Given the description of an element on the screen output the (x, y) to click on. 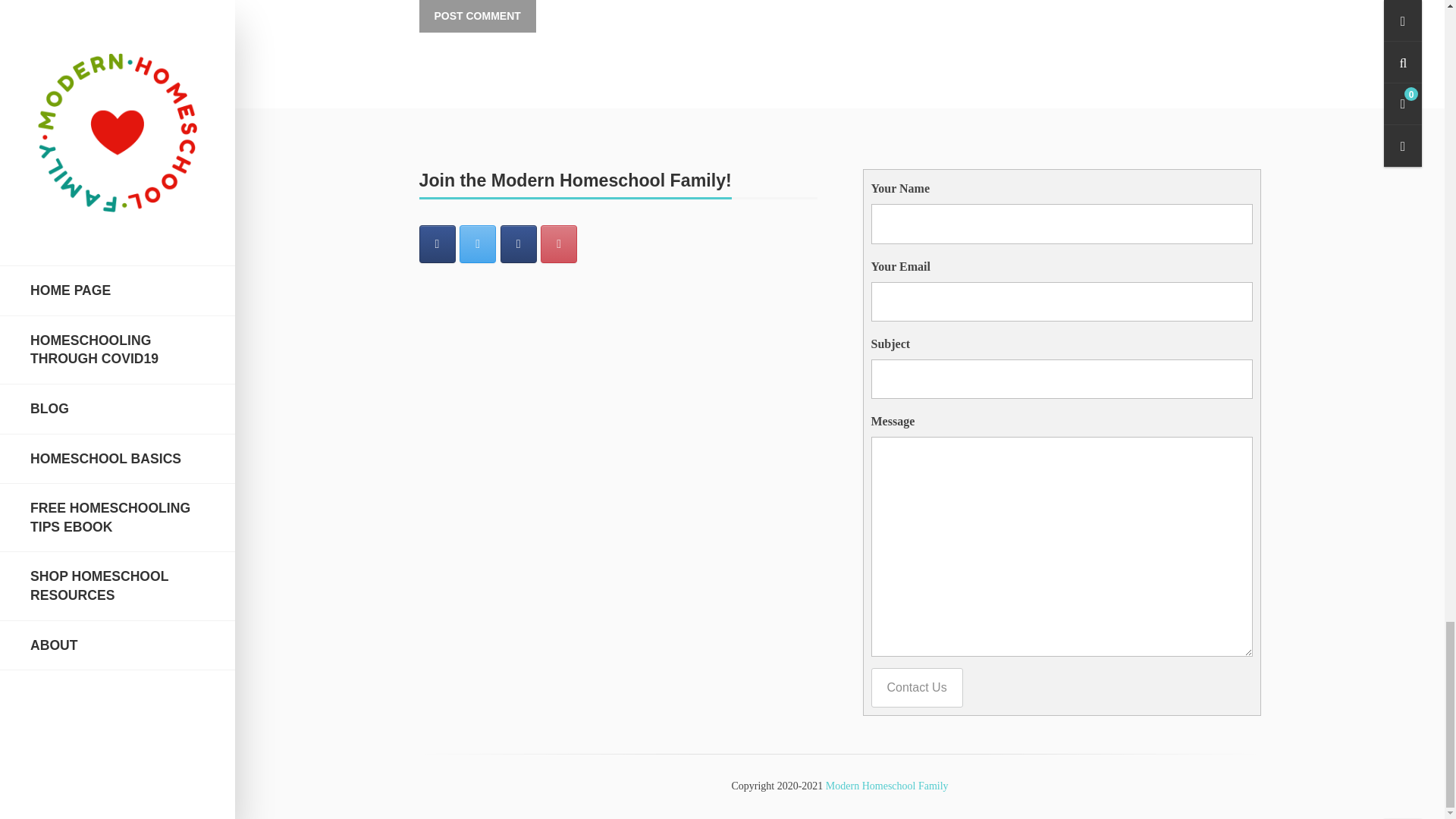
Post Comment (477, 16)
Post Comment (477, 16)
Homeschool Tweets (478, 243)
Modern Homeschool Family (887, 785)
Follow Us on Facebook (436, 243)
Get Inspired on Pinterest (558, 243)
Join the Facebook Group (518, 243)
Contact Us (916, 687)
